Given the description of an element on the screen output the (x, y) to click on. 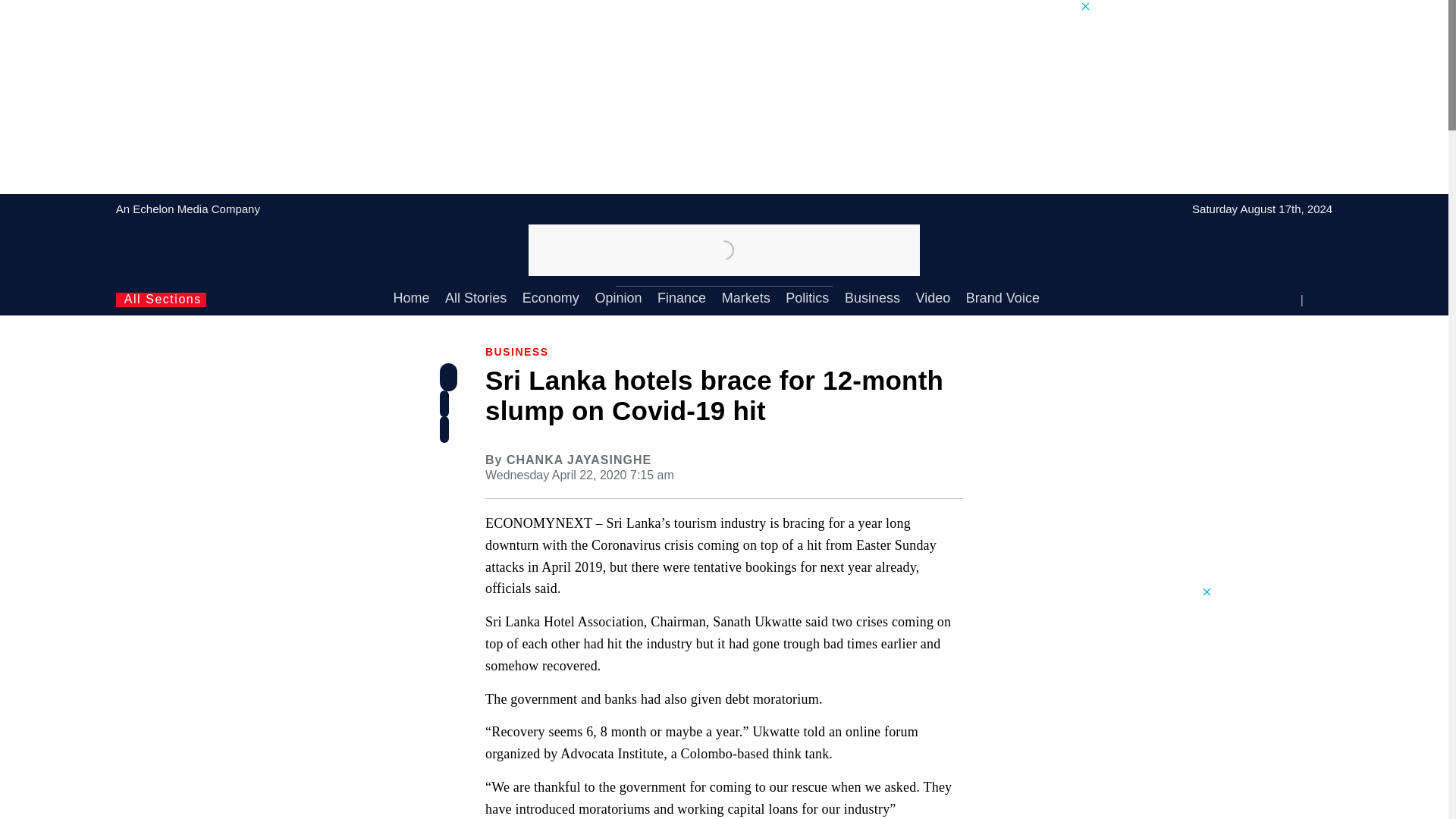
3rd party ad content (1098, 702)
3rd party ad content (1098, 485)
